Given the description of an element on the screen output the (x, y) to click on. 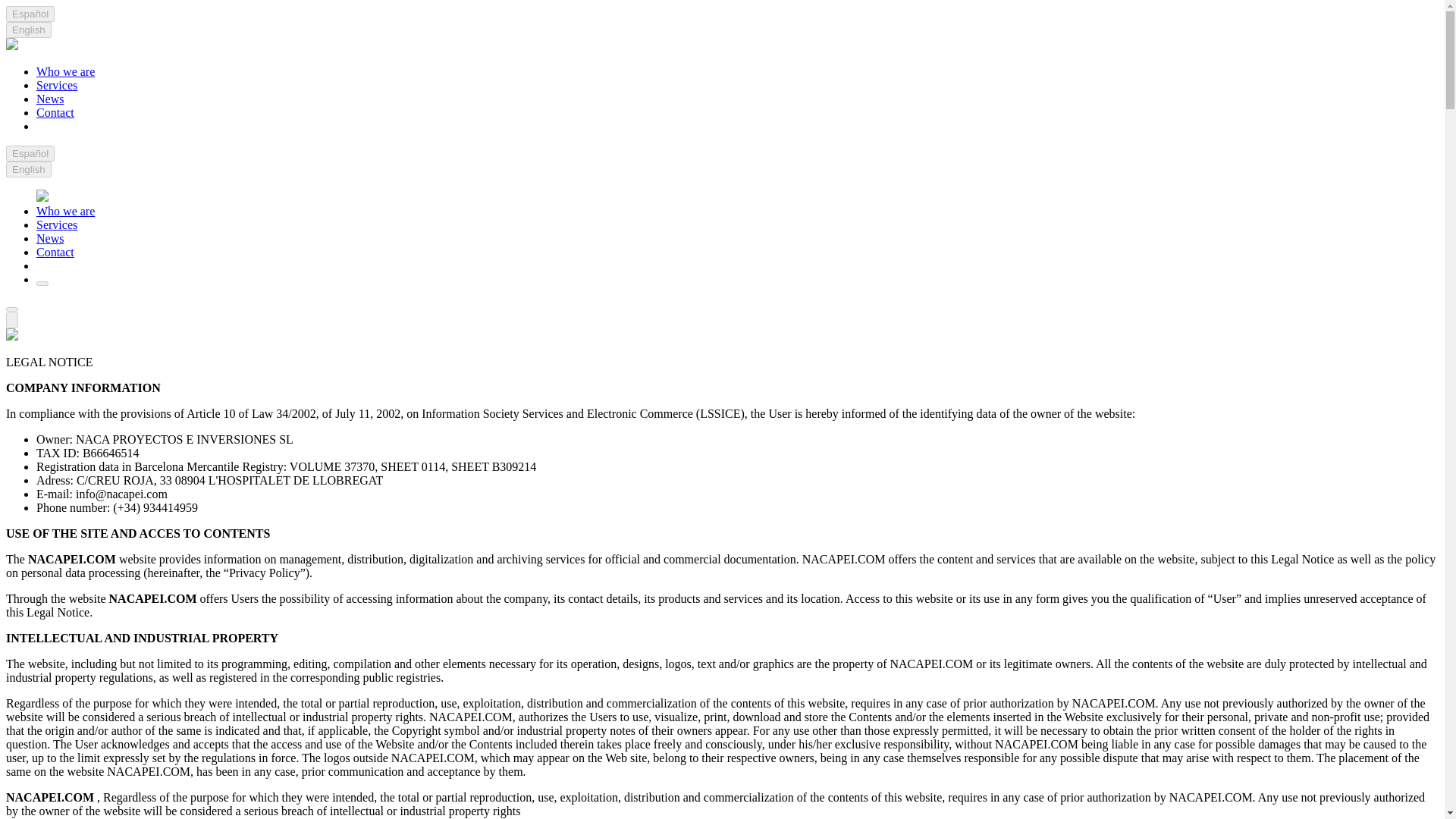
Services (56, 224)
English (27, 29)
Services (56, 84)
News (50, 237)
News (50, 98)
Contact (55, 112)
English (27, 169)
Who we are (65, 210)
Contact (55, 251)
Who we are (65, 71)
